Given the description of an element on the screen output the (x, y) to click on. 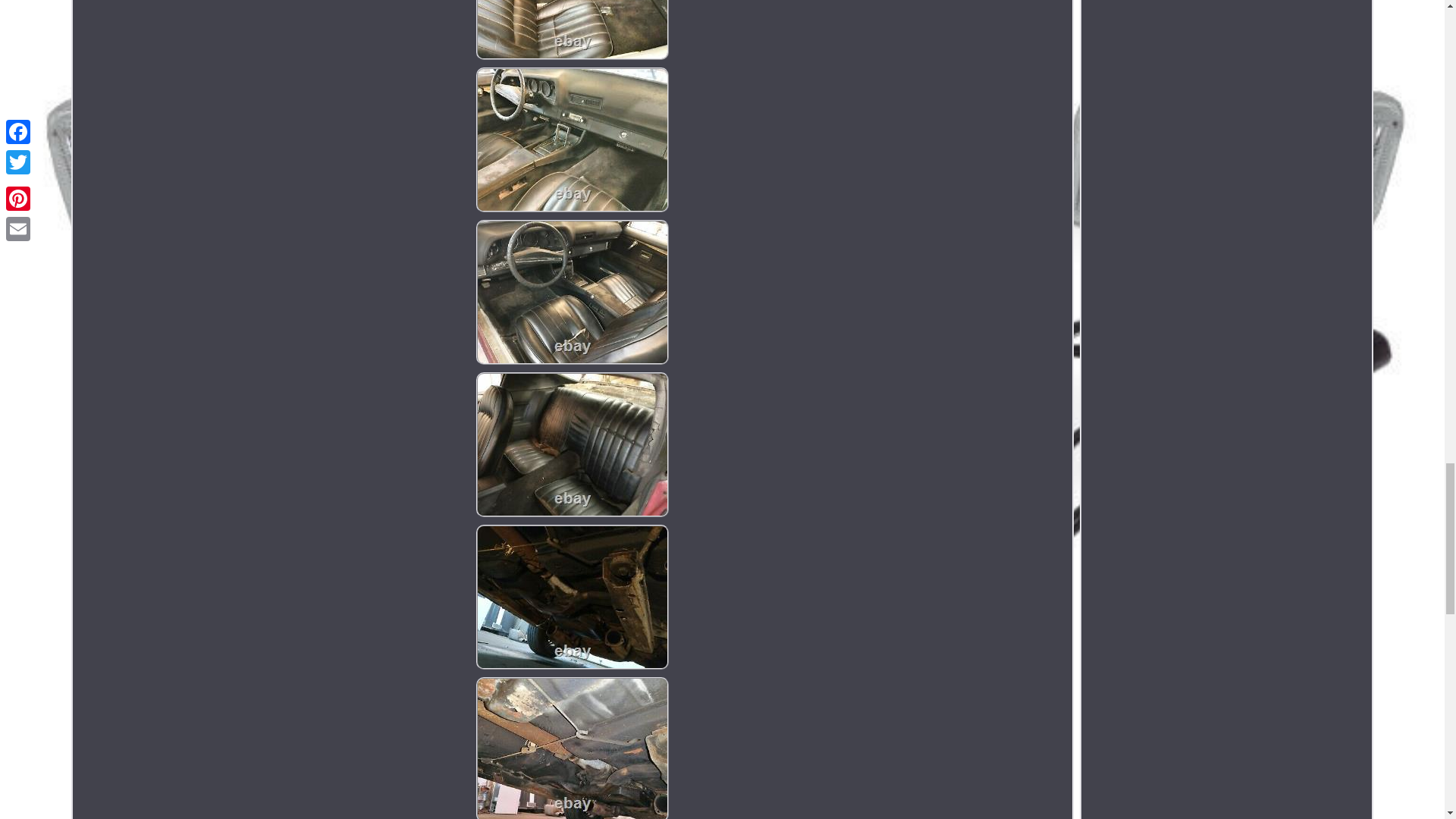
1971 Chevrolet Camaro (572, 29)
1971 Chevrolet Camaro (572, 444)
1971 Chevrolet Camaro (572, 596)
1971 Chevrolet Camaro (572, 139)
1971 Chevrolet Camaro (572, 748)
1971 Chevrolet Camaro (572, 292)
